Given the description of an element on the screen output the (x, y) to click on. 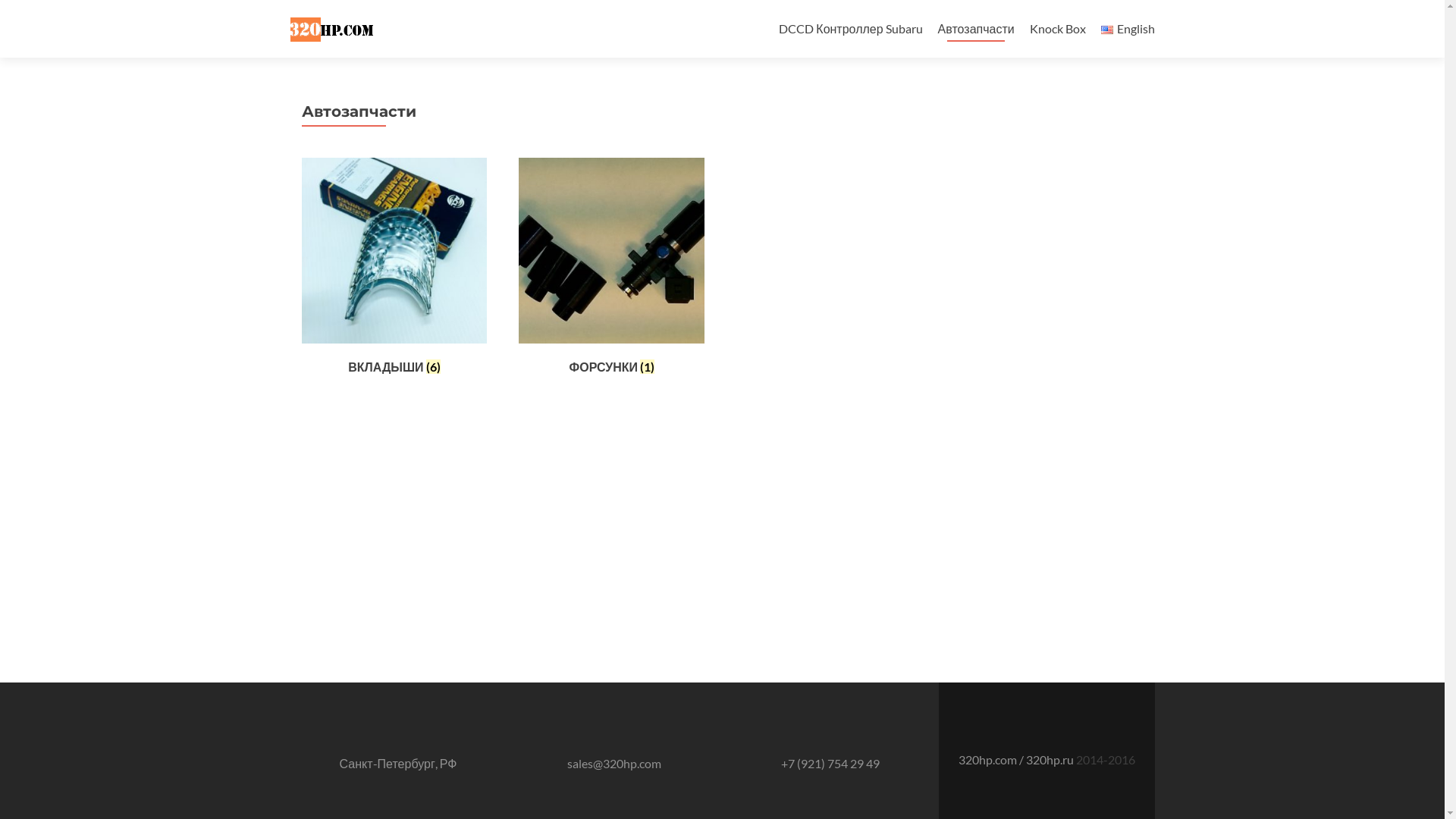
English Element type: hover (1107, 29)
320hp.com / 320hp.ru Element type: text (1017, 759)
Knock Box Element type: text (1057, 28)
Skip to content Element type: text (817, 9)
English Element type: text (1127, 28)
